Given the description of an element on the screen output the (x, y) to click on. 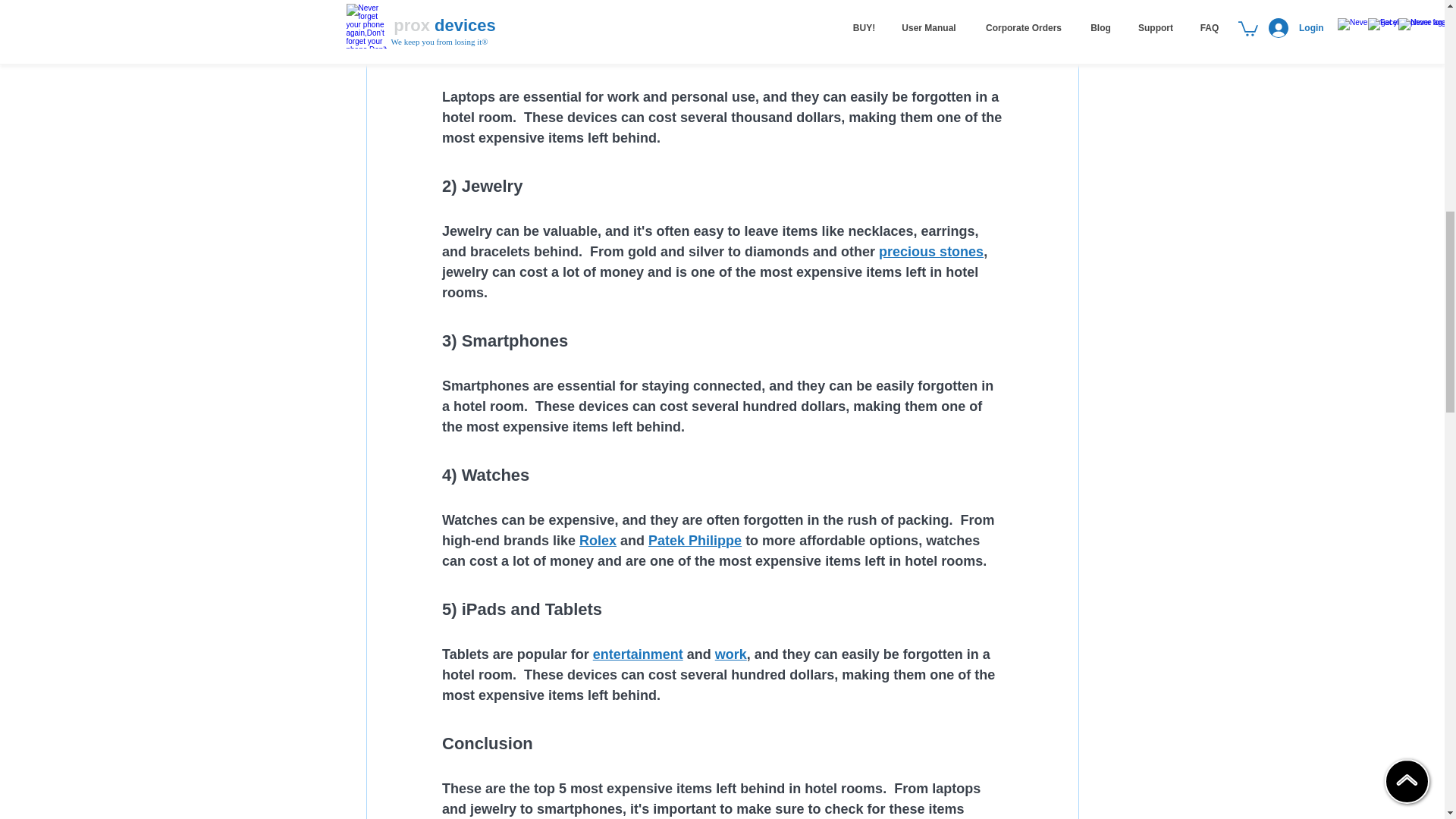
precious stones (931, 251)
entertainment (637, 654)
Patek Philippe (694, 540)
Rolex (597, 540)
work (729, 654)
